Given the description of an element on the screen output the (x, y) to click on. 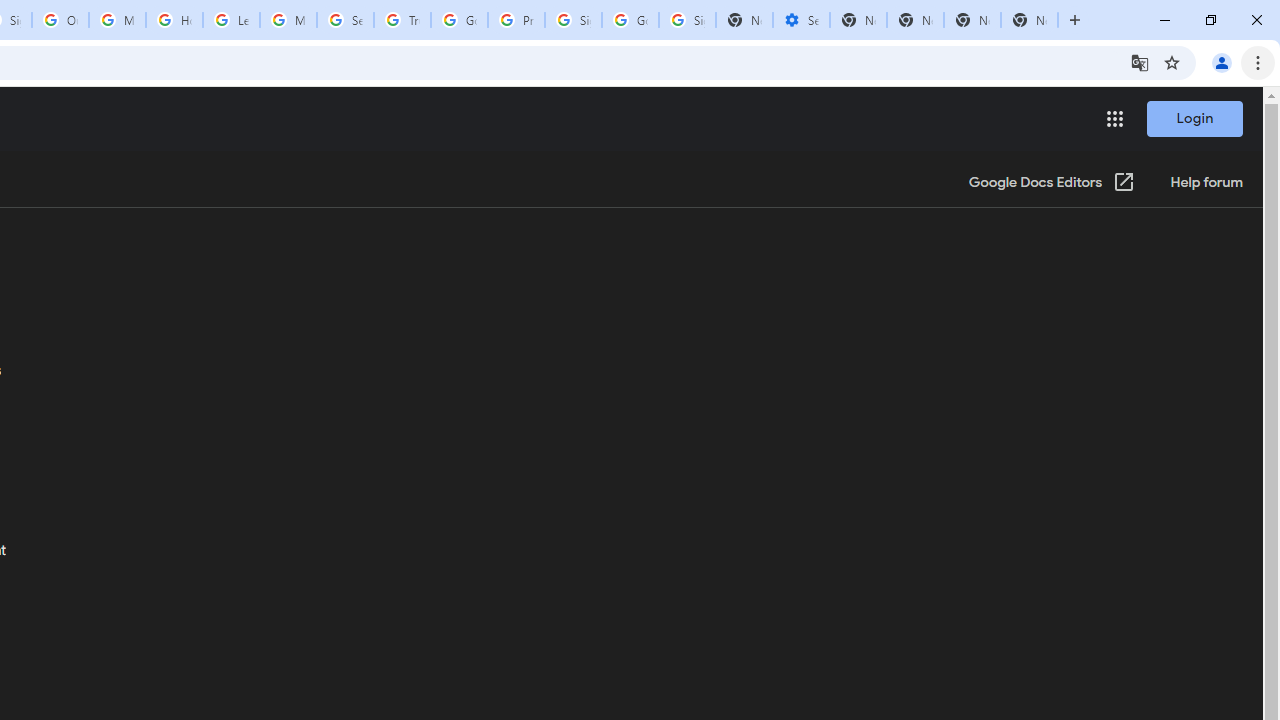
Sign in - Google Accounts (573, 20)
Translate this page (1139, 62)
Sign in - Google Accounts (687, 20)
Search our Doodle Library Collection - Google Doodles (345, 20)
New Tab (1029, 20)
